Given the description of an element on the screen output the (x, y) to click on. 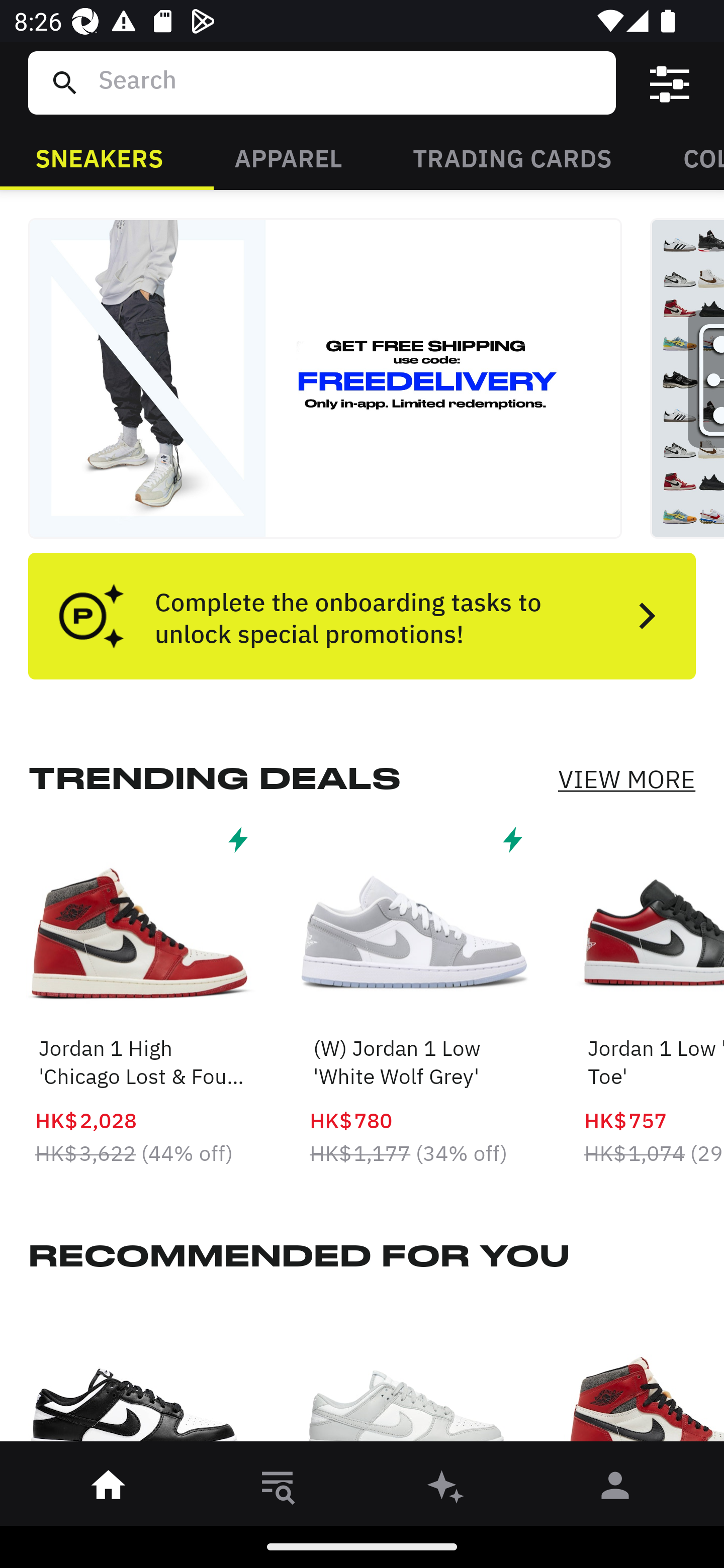
Search (349, 82)
 (669, 82)
SNEAKERS (99, 156)
APPAREL (287, 156)
TRADING CARDS (512, 156)
VIEW MORE (626, 779)
󰋜 (108, 1488)
󱎸 (277, 1488)
󰫢 (446, 1488)
󰀄 (615, 1488)
